Given the description of an element on the screen output the (x, y) to click on. 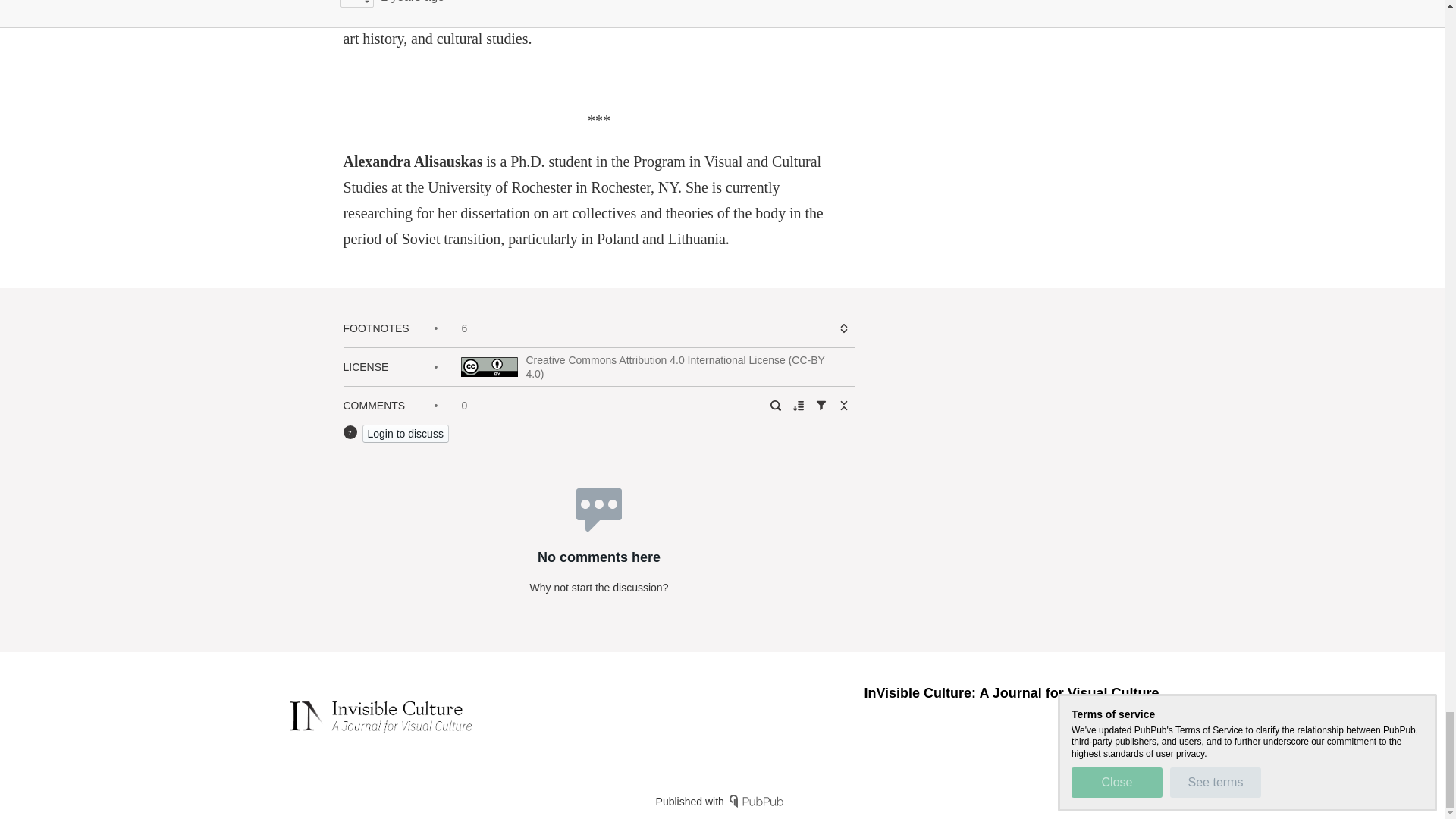
RSS (1104, 719)
InVisible Culture: A Journal for Visual Culture (1010, 693)
Legal (1145, 719)
Login to discuss (405, 434)
